Given the description of an element on the screen output the (x, y) to click on. 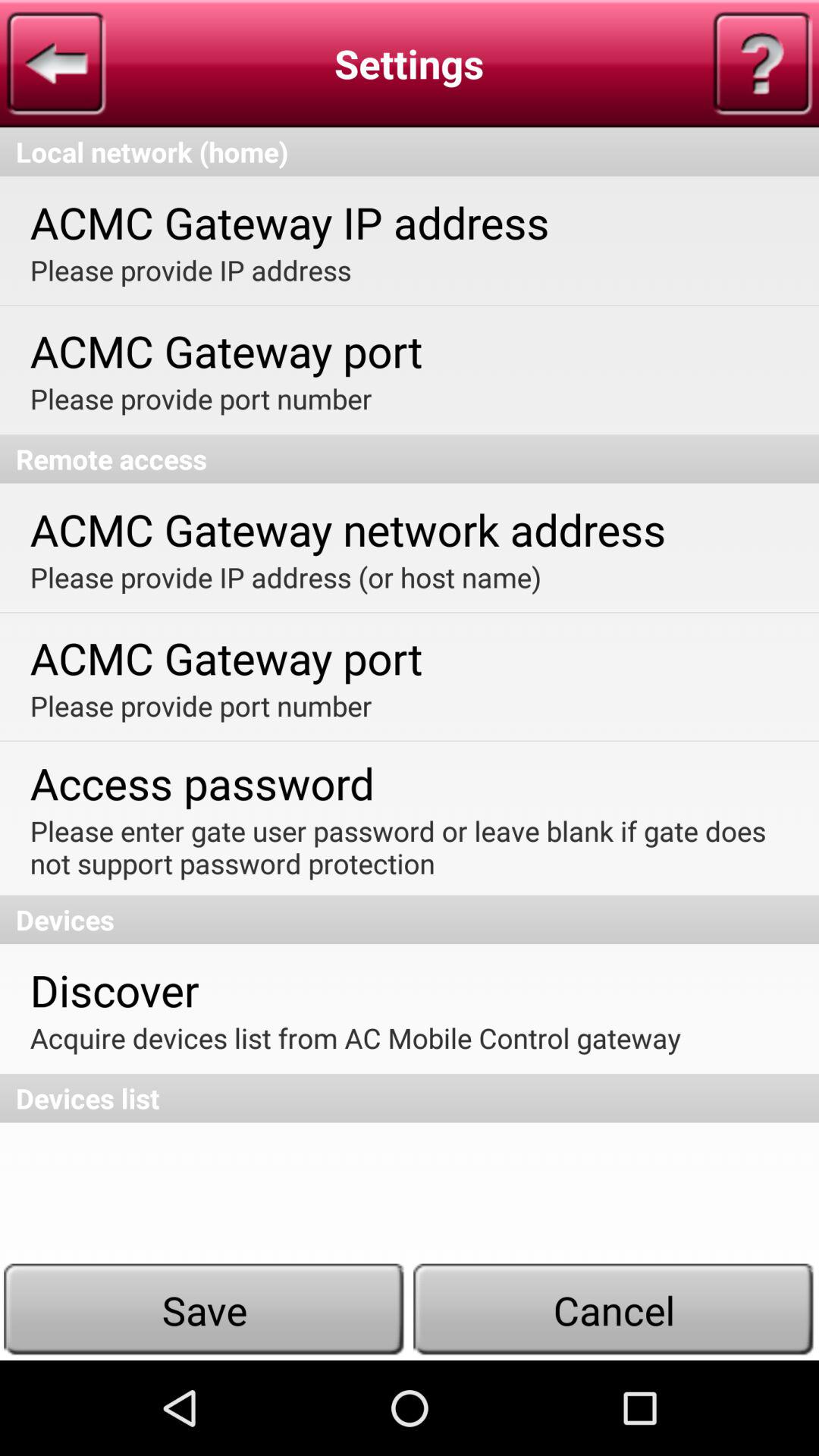
turn on the app below access password icon (408, 847)
